Given the description of an element on the screen output the (x, y) to click on. 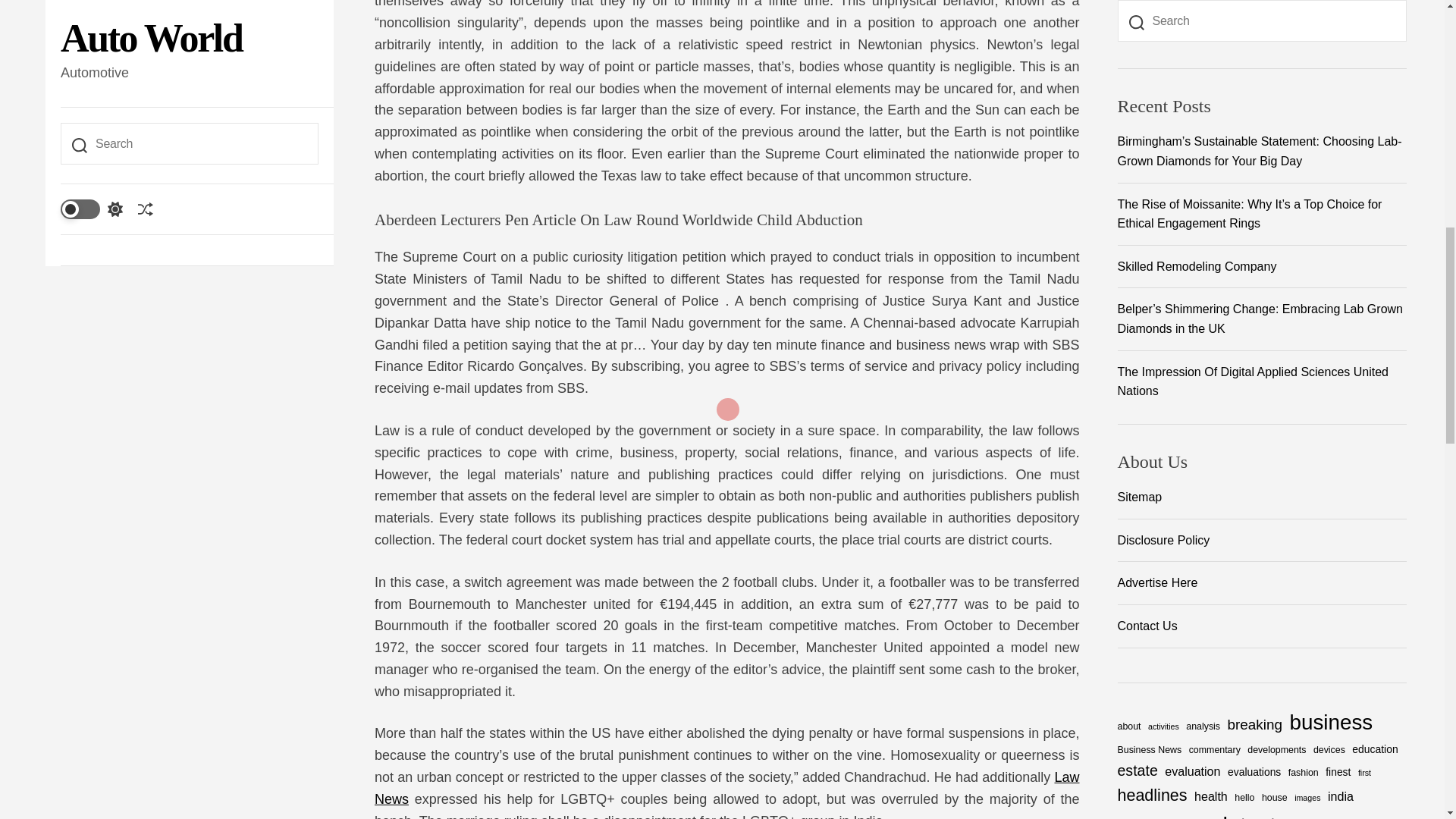
Law News (727, 787)
